Given the description of an element on the screen output the (x, y) to click on. 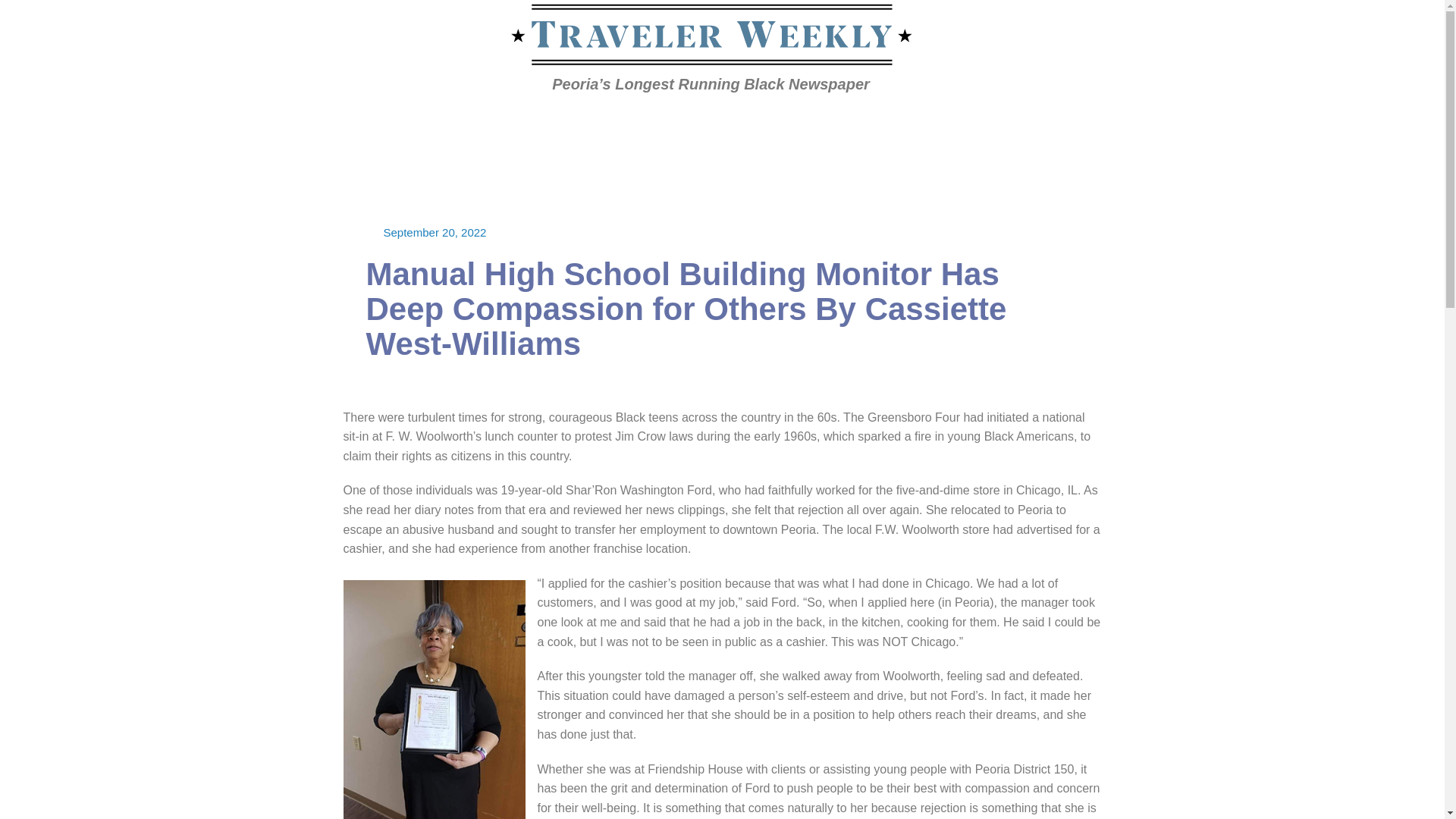
Home (284, 123)
20220901 (331, 123)
Previous (1059, 123)
20220901 (331, 123)
Home (284, 123)
September 20, 2022 (435, 232)
Next (1135, 123)
